Given the description of an element on the screen output the (x, y) to click on. 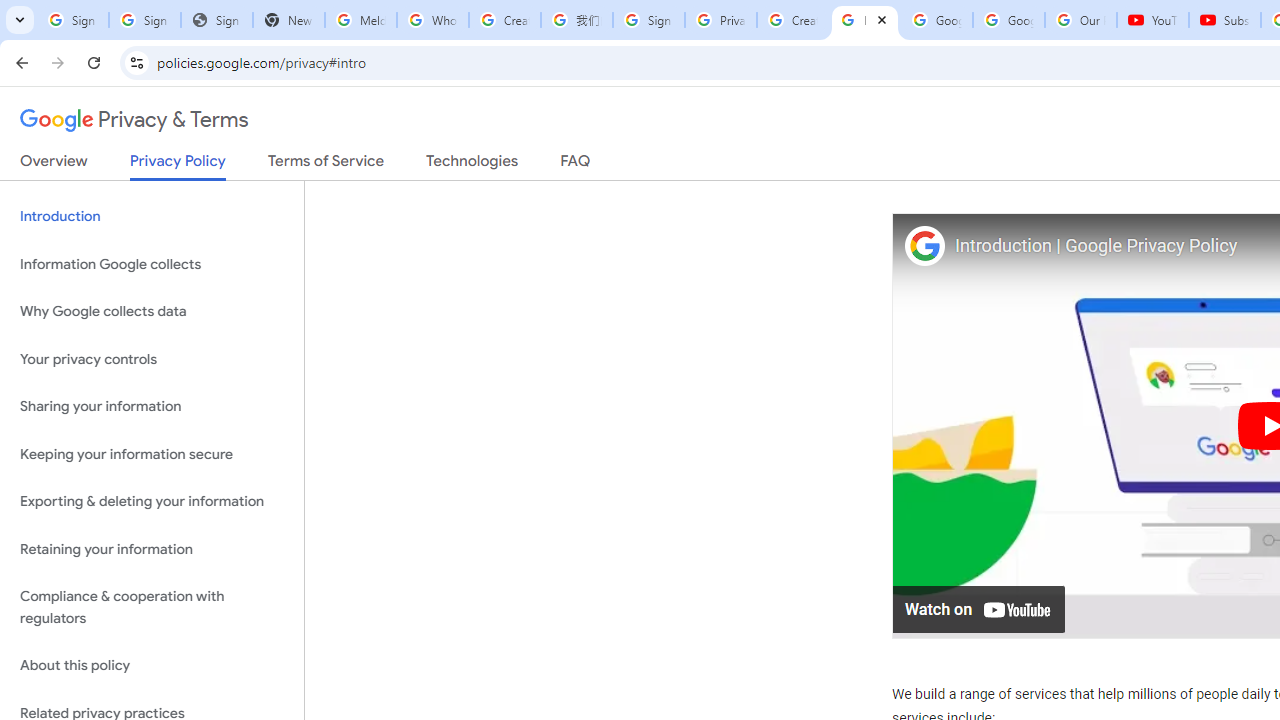
Information Google collects (152, 263)
Photo image of Google (924, 244)
Create your Google Account (504, 20)
Exporting & deleting your information (152, 502)
Retaining your information (152, 548)
